Given the description of an element on the screen output the (x, y) to click on. 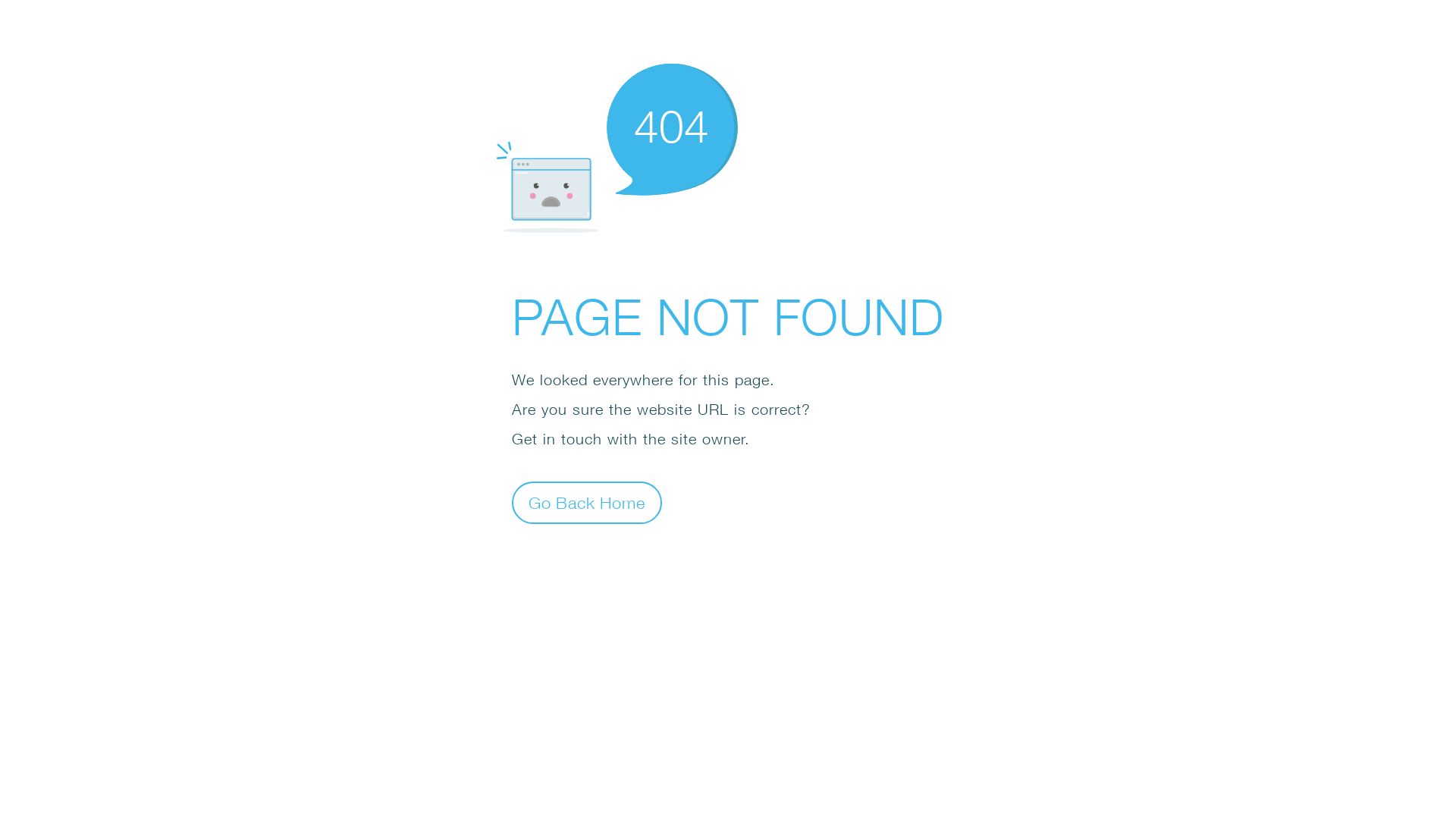
Go Back Home Element type: text (586, 502)
